Given the description of an element on the screen output the (x, y) to click on. 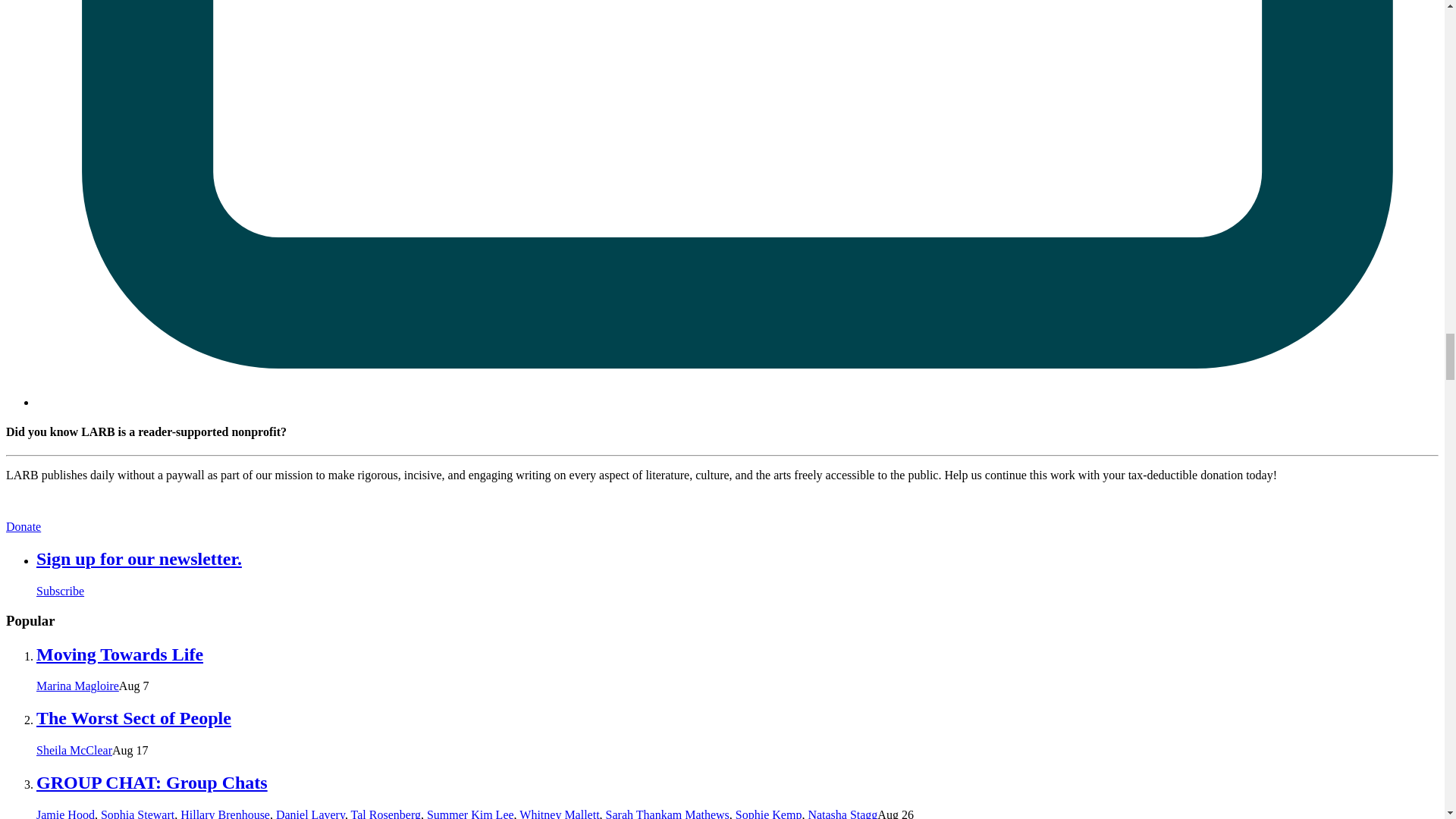
Sophia Stewart (137, 813)
Marina Magloire (77, 685)
GROUP CHAT: Group Chats (151, 782)
Sheila McClear (74, 749)
Moving Towards Life (119, 654)
The Worst Sect of People (133, 718)
Jamie Hood (65, 813)
Hillary Brenhouse (224, 813)
Sign up for our newsletter. (138, 558)
